Given the description of an element on the screen output the (x, y) to click on. 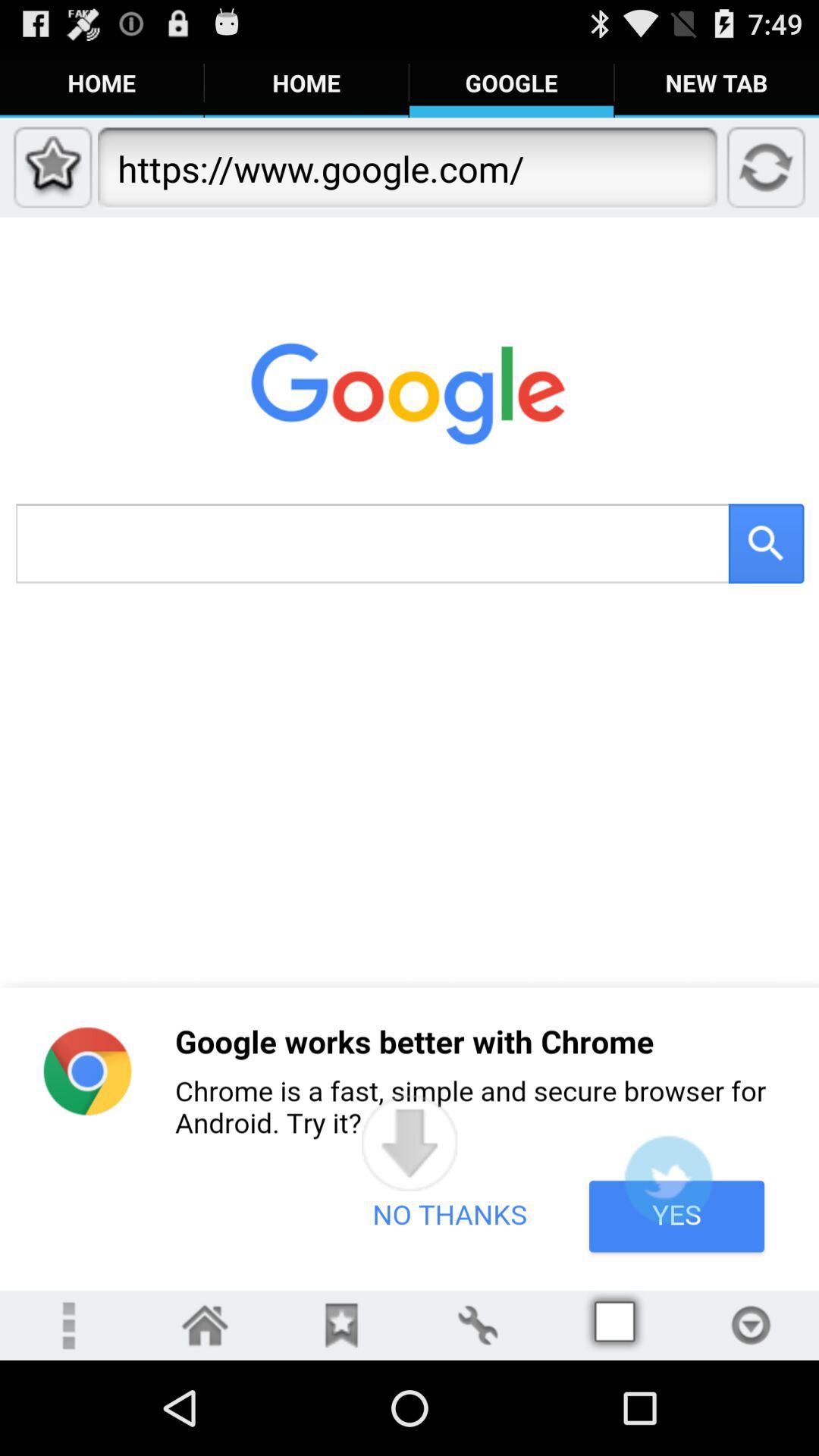
open home (204, 1325)
